Given the description of an element on the screen output the (x, y) to click on. 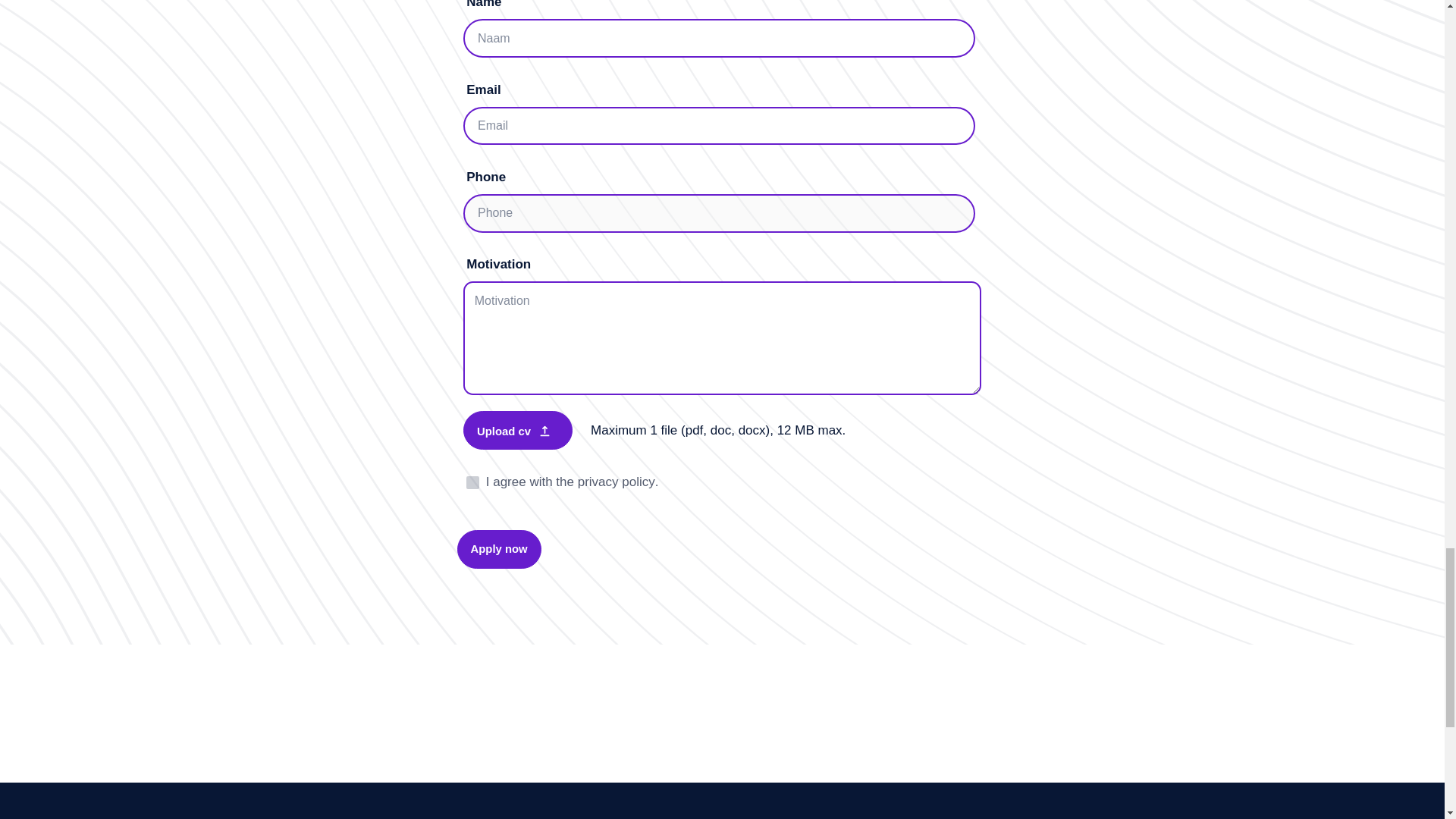
privacy policy (616, 482)
on (472, 481)
Apply now (498, 548)
